Given the description of an element on the screen output the (x, y) to click on. 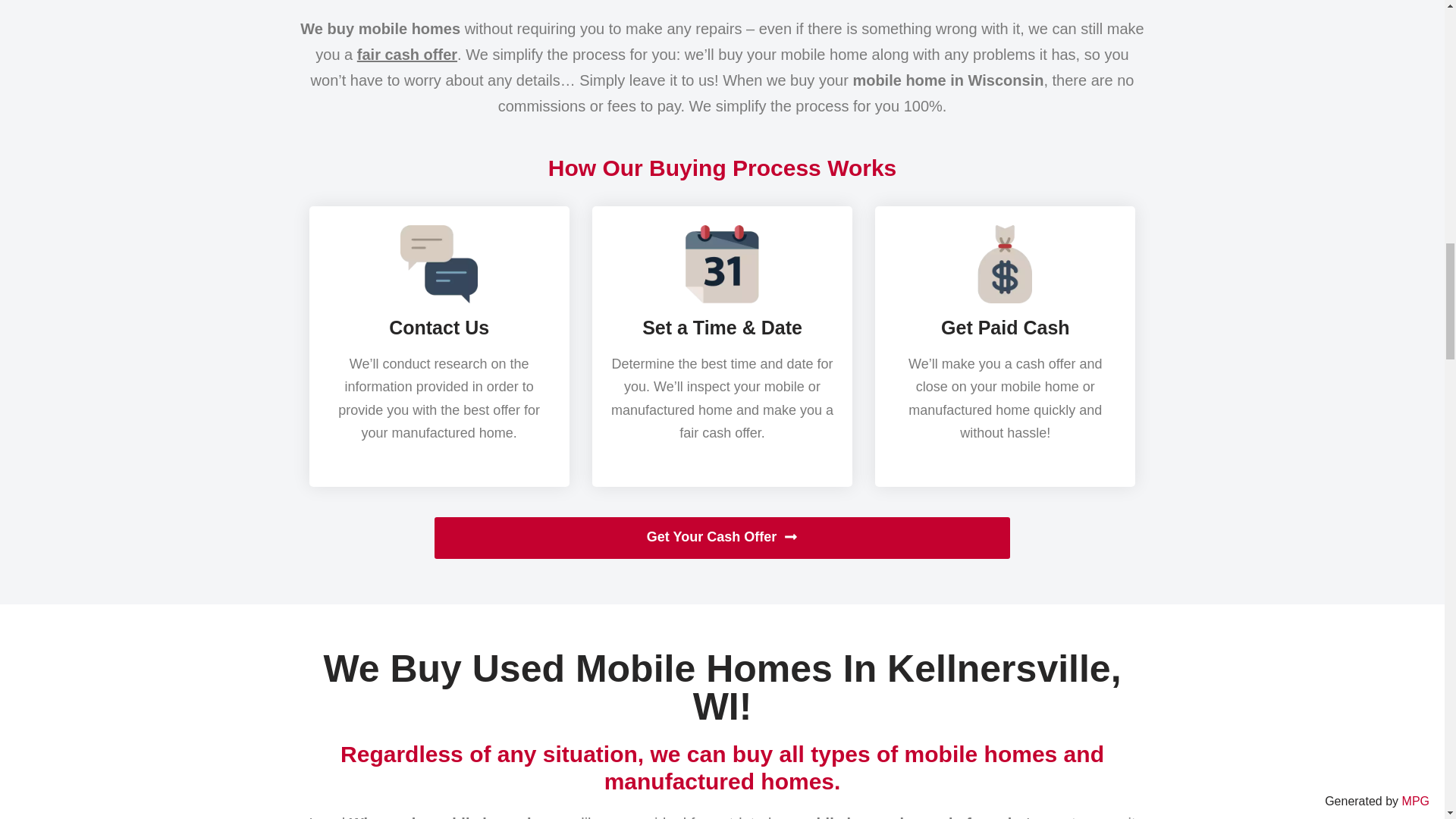
How Our Buying Process Works (722, 167)
Get Your Cash Offer (721, 537)
